Given the description of an element on the screen output the (x, y) to click on. 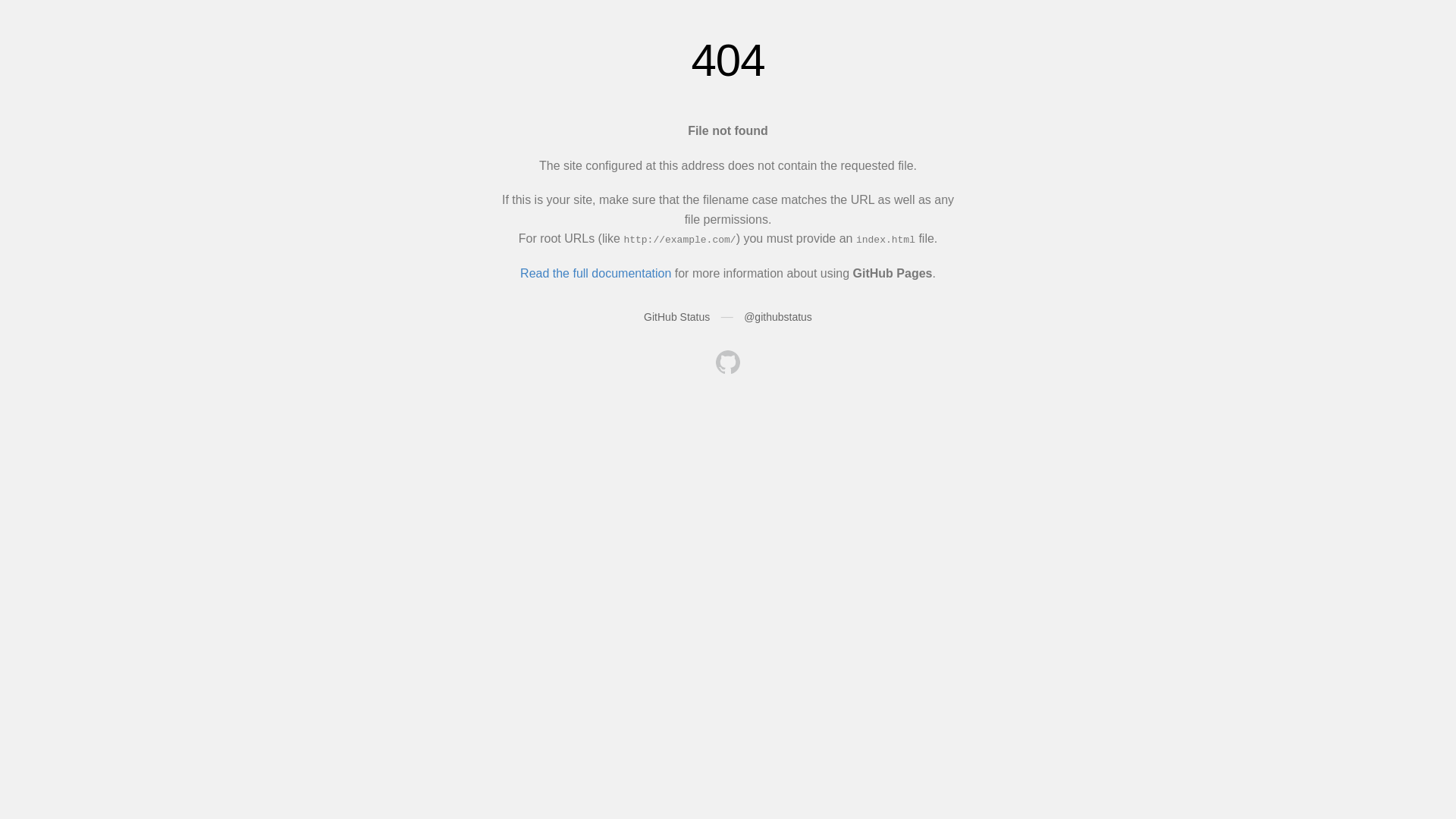
Read the full documentation Element type: text (595, 272)
GitHub Status Element type: text (676, 316)
@githubstatus Element type: text (777, 316)
